Given the description of an element on the screen output the (x, y) to click on. 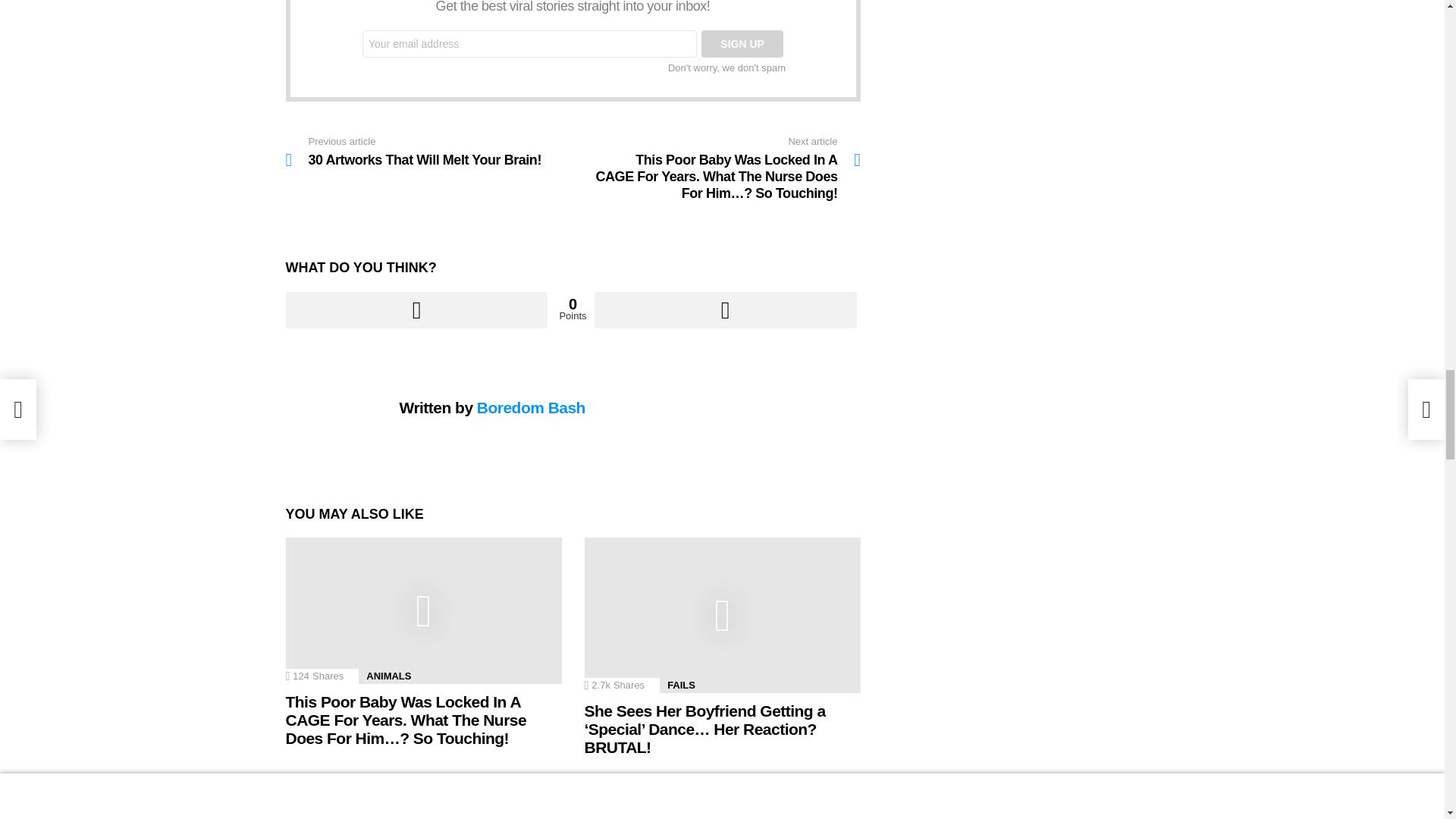
Downvote (725, 309)
Upvote (416, 309)
Sign up (742, 43)
